Given the description of an element on the screen output the (x, y) to click on. 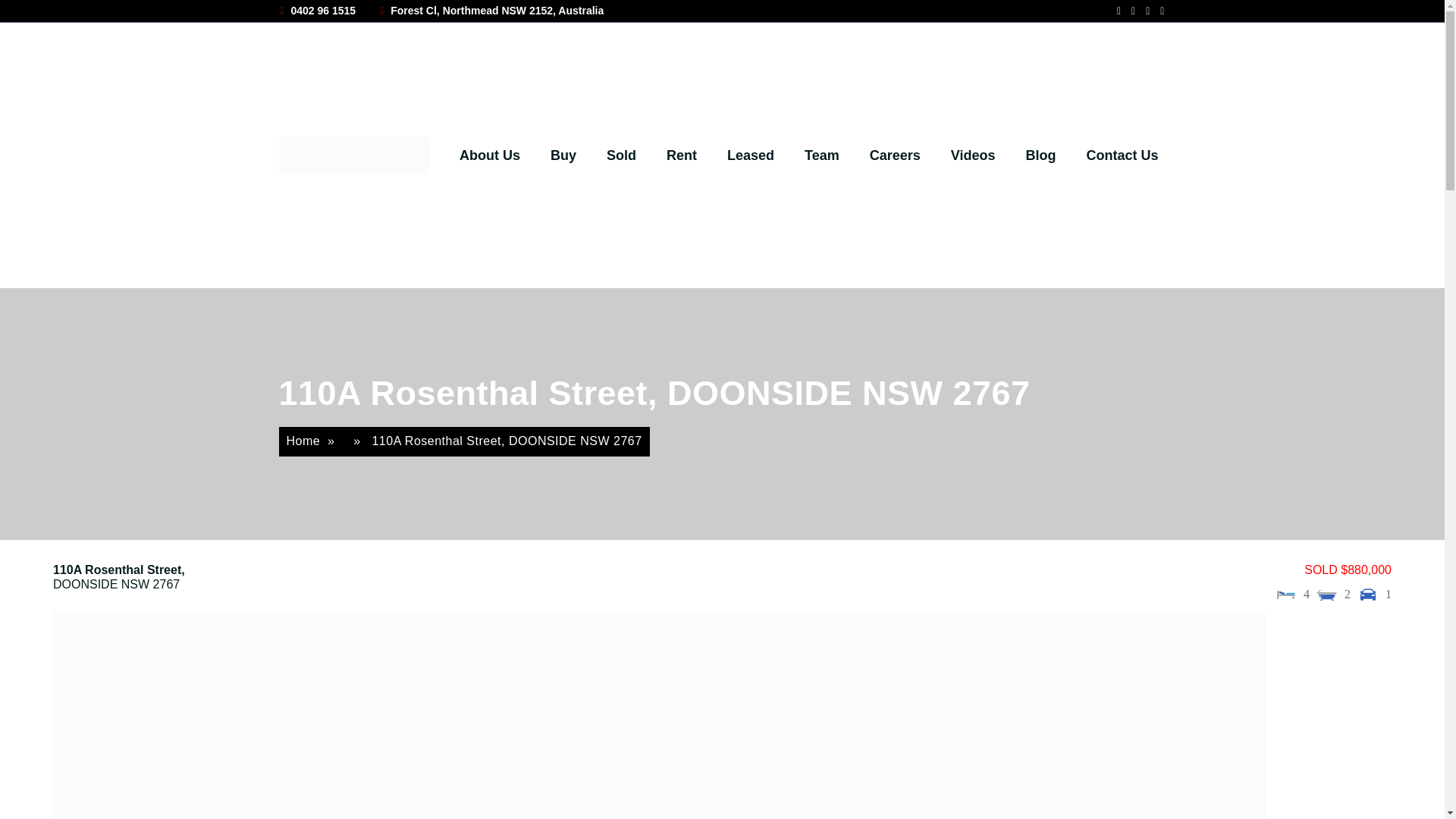
Forest Cl, Northmead NSW 2152, Australia (491, 10)
Contact Us (1122, 154)
Team (821, 154)
Parking Spaces (1367, 594)
Leased (750, 154)
Bathrooms (1327, 594)
Home (303, 440)
Careers (894, 154)
Videos (973, 154)
0402 96 1515 (317, 10)
